Given the description of an element on the screen output the (x, y) to click on. 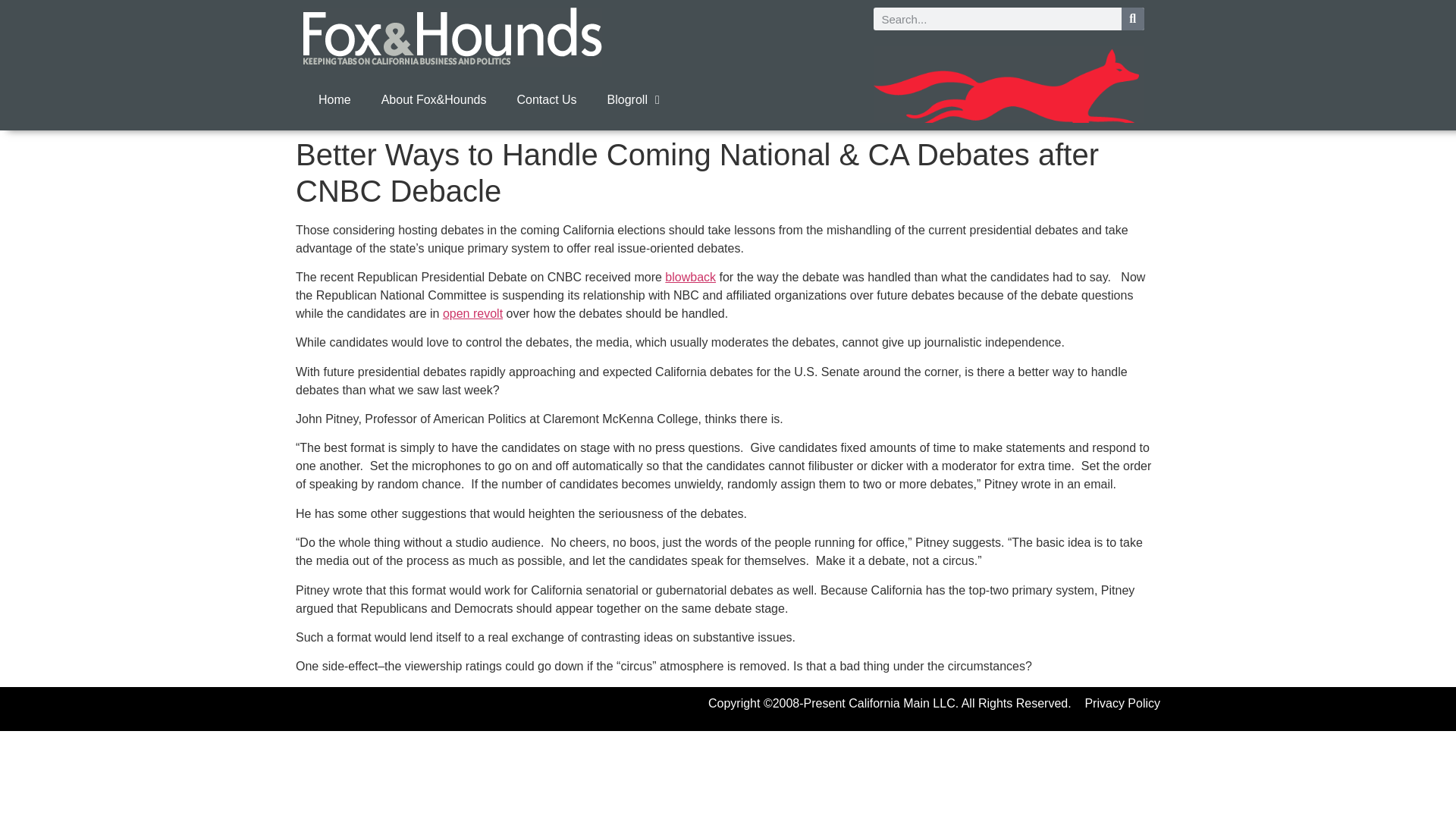
Privacy Policy (1122, 703)
blowback (690, 277)
Home (334, 99)
Blogroll (633, 99)
Contact Us (545, 99)
open revolt (472, 313)
